Given the description of an element on the screen output the (x, y) to click on. 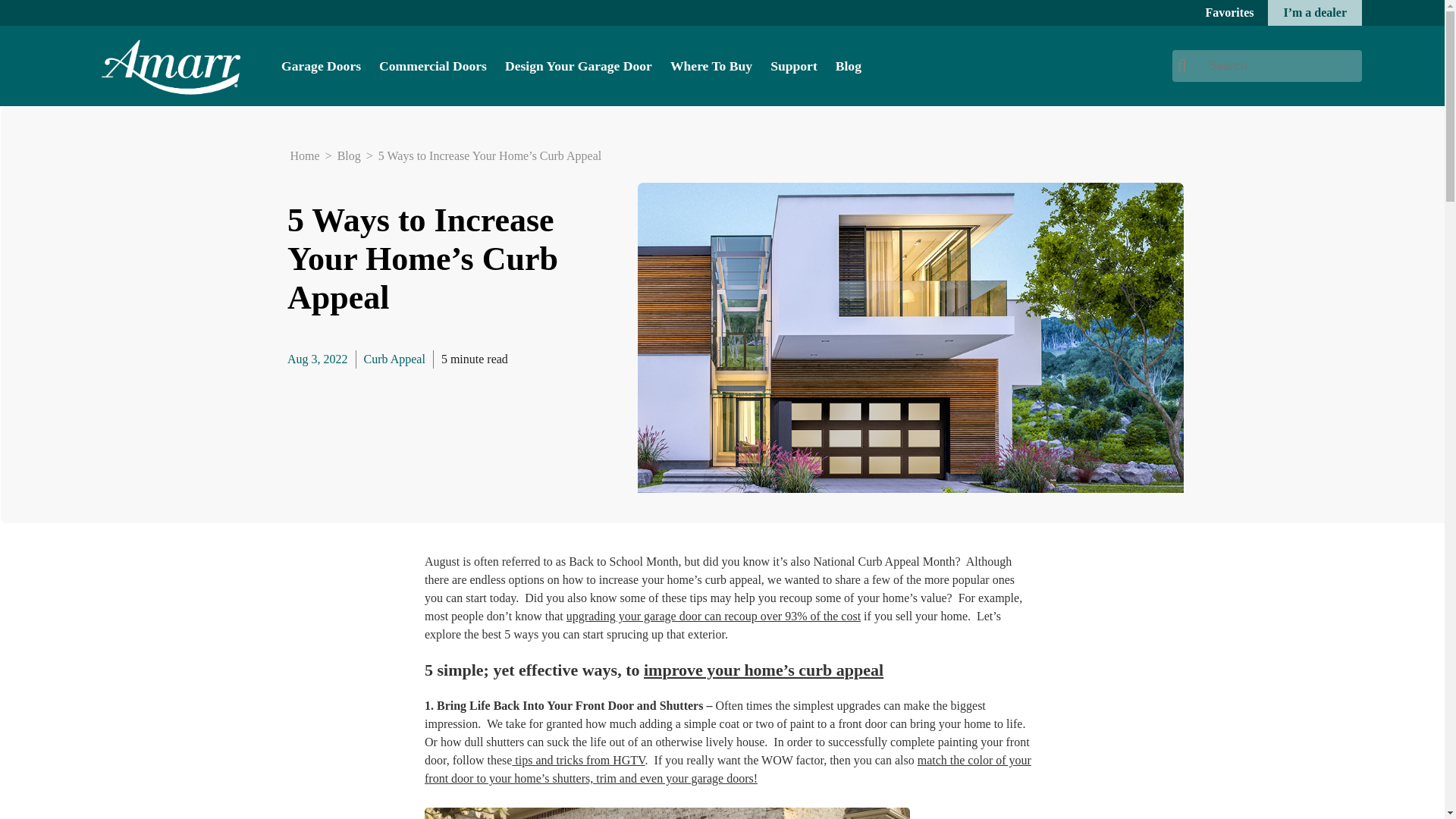
tips and tricks from HGTV (578, 759)
Commercial Doors (432, 65)
Blog (848, 65)
Design Your Garage Door (578, 65)
Blog (349, 155)
Home (303, 155)
Favorites (1229, 11)
Where To Buy (710, 65)
Garage Doors (321, 65)
Support (793, 65)
